Given the description of an element on the screen output the (x, y) to click on. 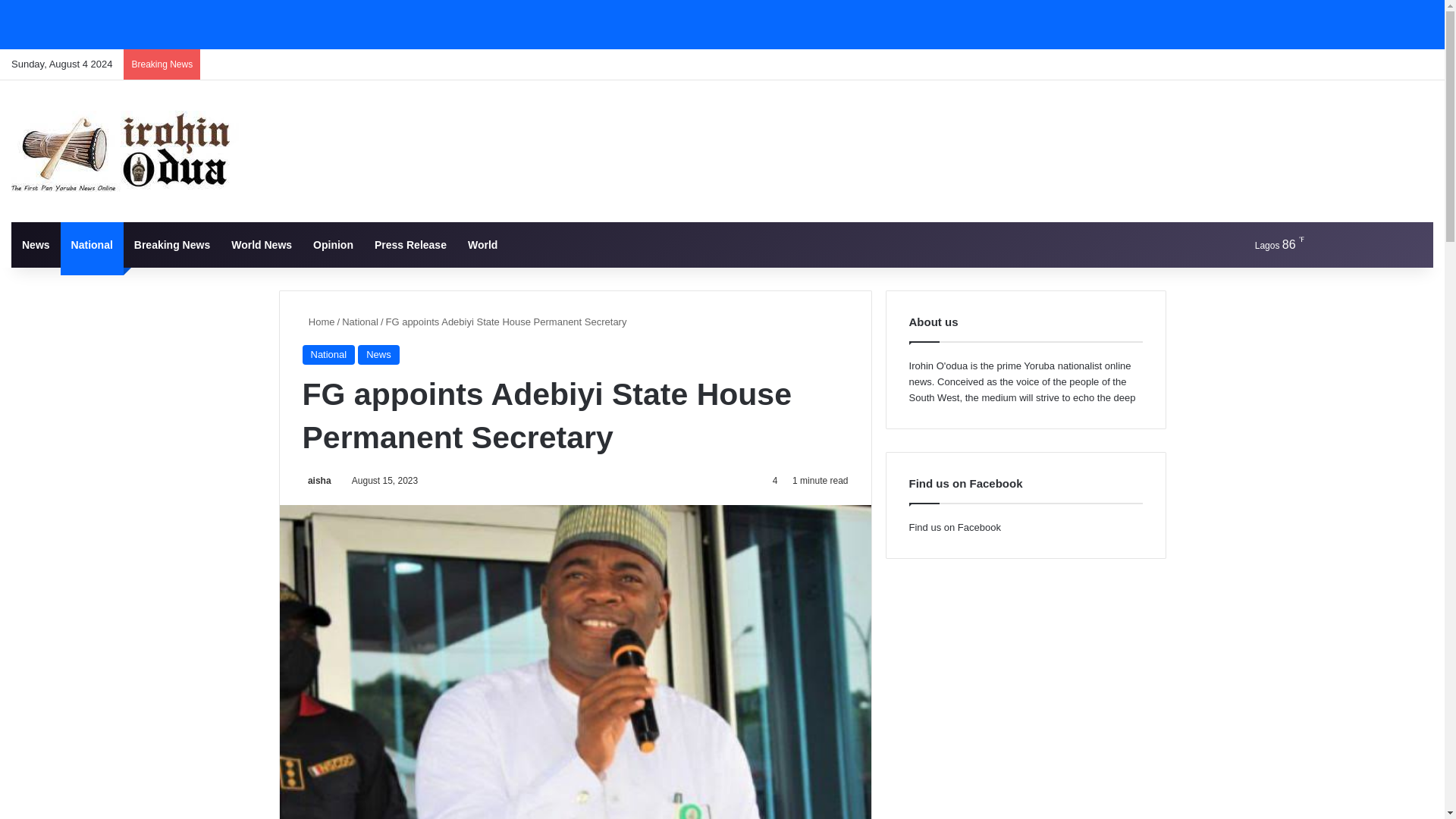
Opinion (333, 244)
IROHIN ODUA (124, 150)
National (92, 244)
National (328, 354)
Home (317, 321)
National (360, 321)
aisha (315, 480)
News (36, 244)
News (378, 354)
World (482, 244)
aisha (315, 480)
Breaking News (172, 244)
World News (261, 244)
Scattered Clouds (1265, 244)
Press Release (410, 244)
